Given the description of an element on the screen output the (x, y) to click on. 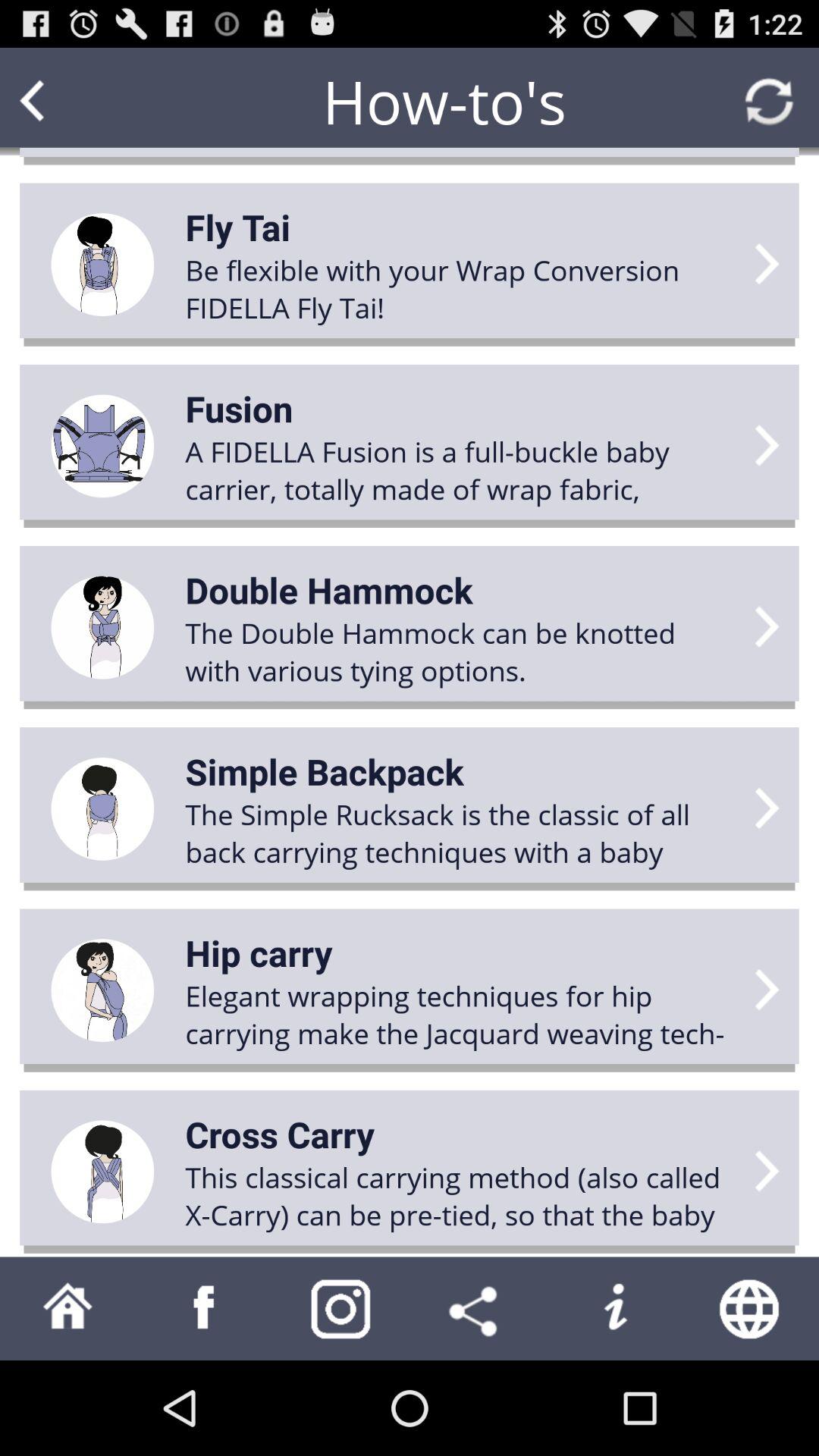
refresh page (769, 101)
